Given the description of an element on the screen output the (x, y) to click on. 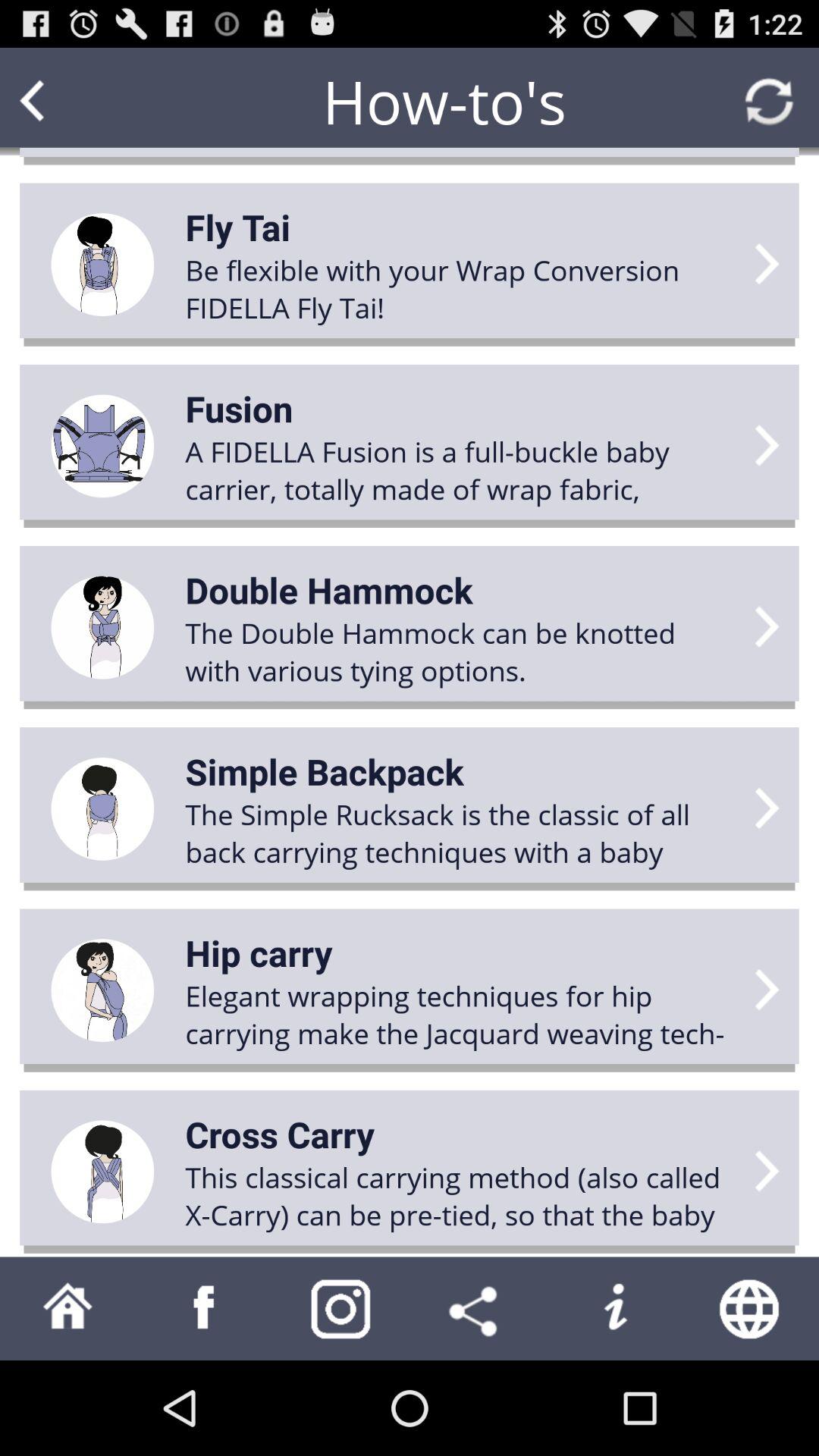
refresh page (769, 101)
